Given the description of an element on the screen output the (x, y) to click on. 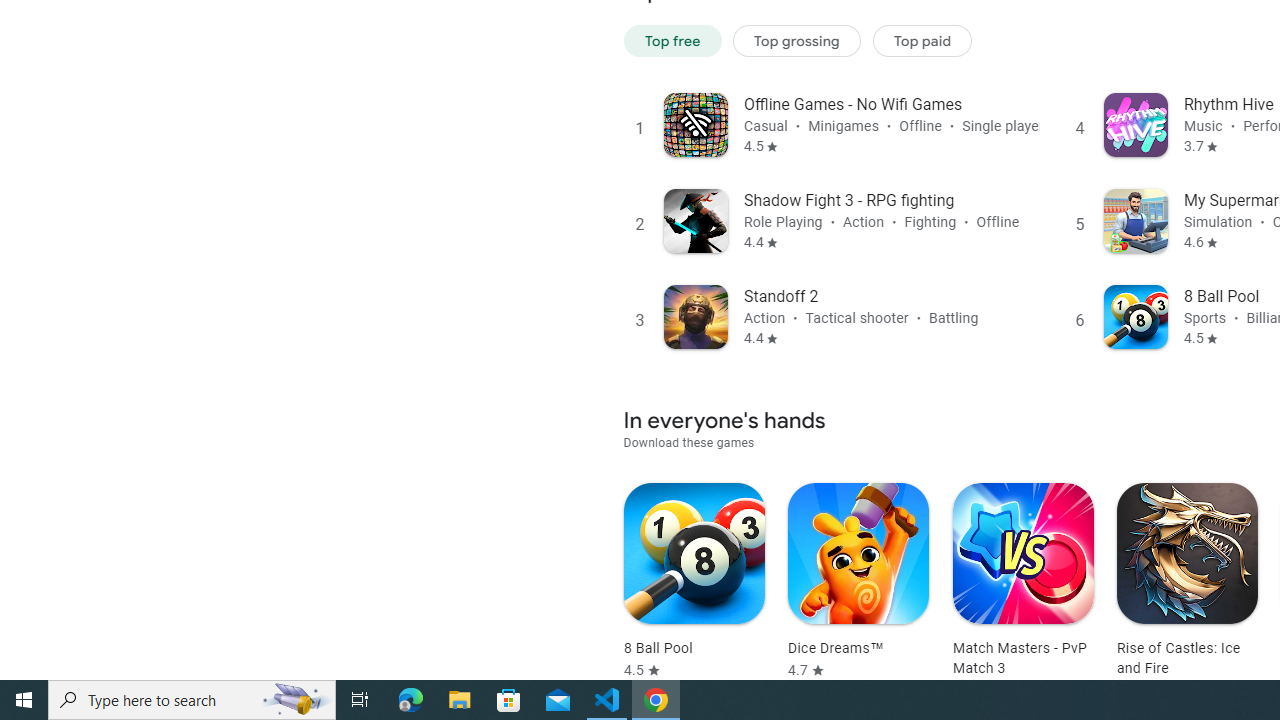
Top free (672, 39)
Top paid (922, 39)
8 Ball Pool Rated 4.5 stars out of five stars (694, 581)
Top grossing (797, 39)
